Given the description of an element on the screen output the (x, y) to click on. 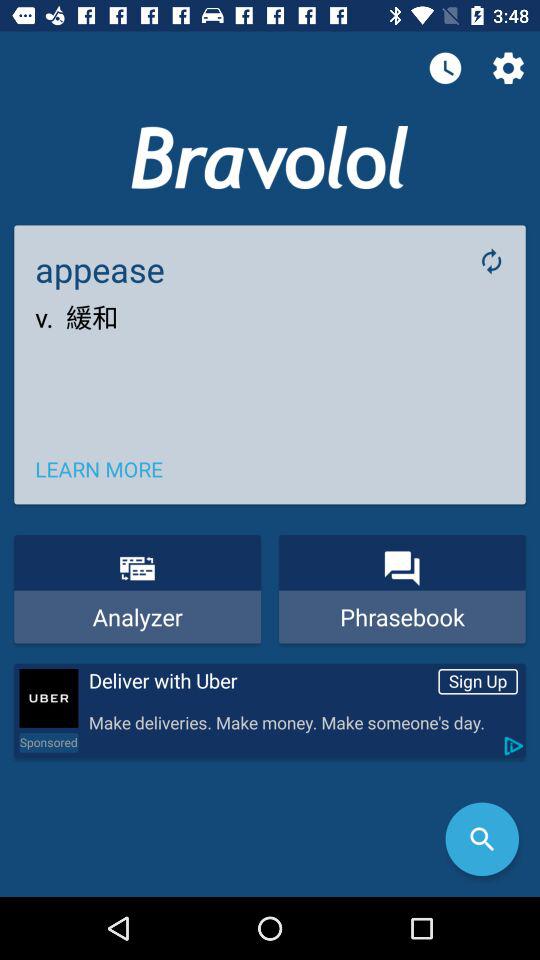
turn off make deliveries make (301, 723)
